Given the description of an element on the screen output the (x, y) to click on. 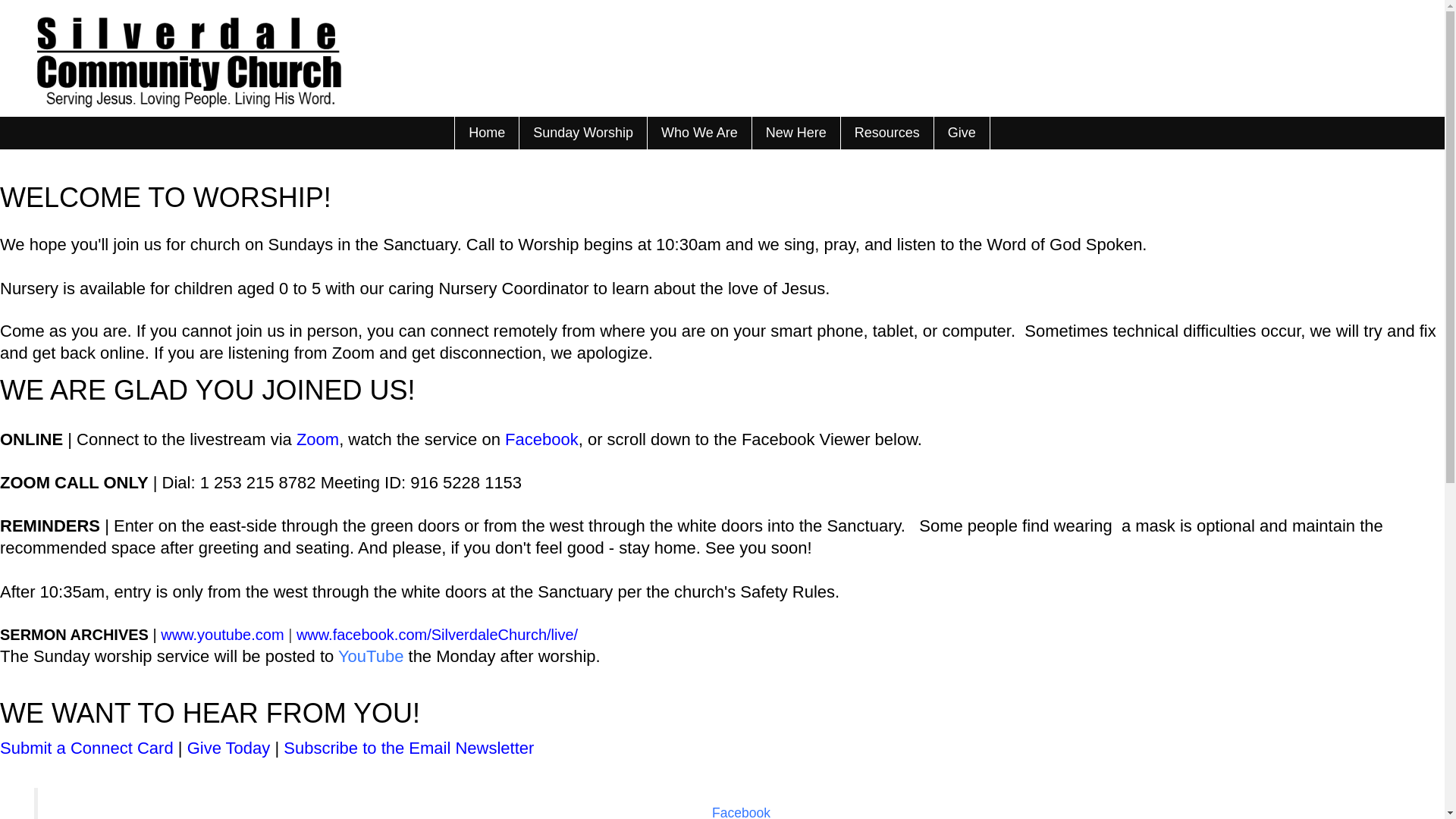
oom (322, 438)
acebook (546, 438)
Resources (886, 133)
Home (486, 133)
Give (961, 133)
www.youtube.com (221, 634)
Who We Are (698, 133)
New Here (795, 133)
Sunday Worship (582, 133)
